Given the description of an element on the screen output the (x, y) to click on. 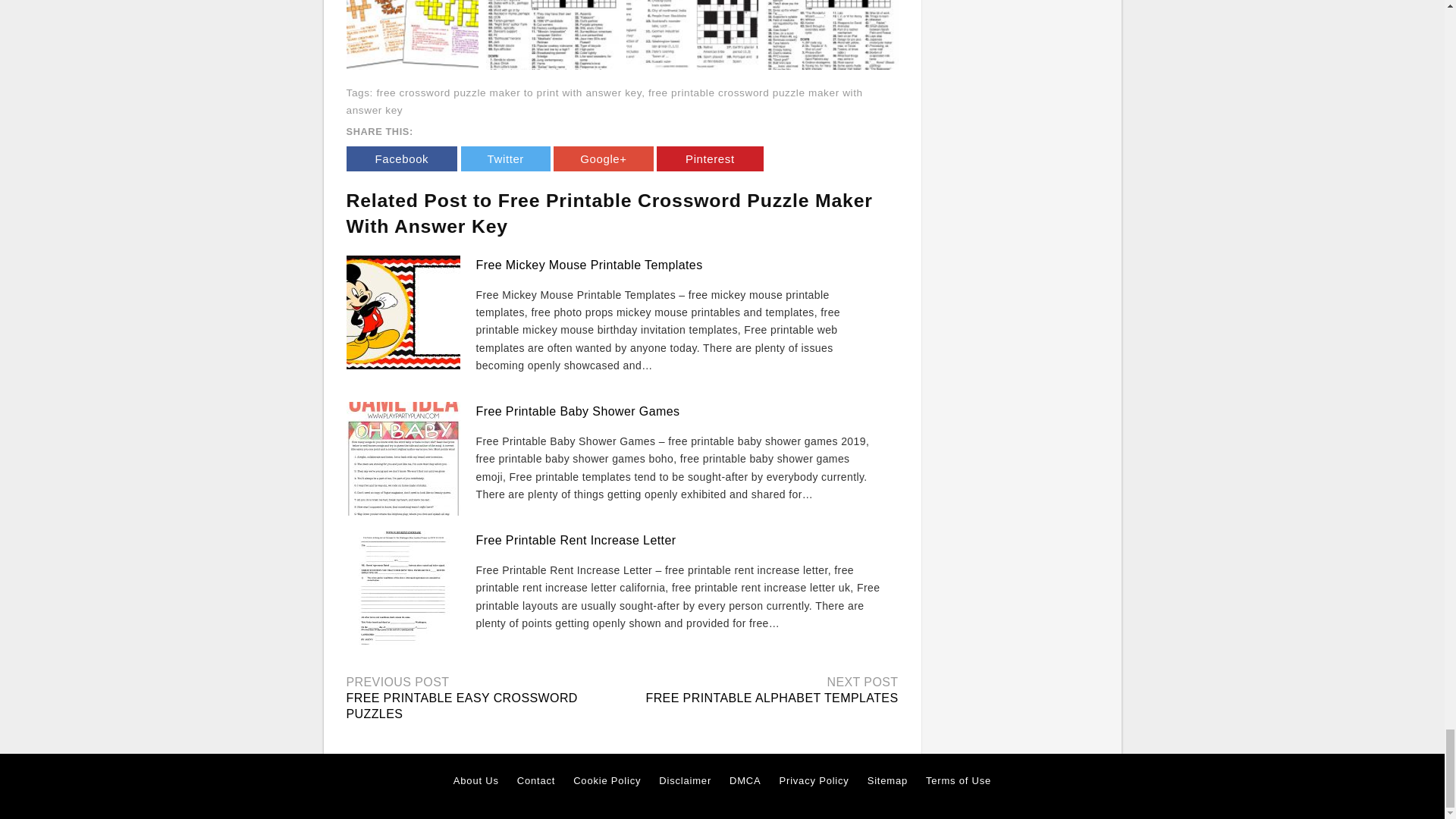
free crossword puzzle maker to print with answer key (508, 92)
Twitter (505, 158)
free printable crossword puzzle maker with answer key (603, 101)
FREE PRINTABLE ALPHABET TEMPLATES (771, 697)
Facebook (401, 158)
FREE PRINTABLE EASY CROSSWORD PUZZLES (461, 705)
Pinterest (709, 158)
Free Mickey Mouse Printable Templates (589, 264)
Free Printable Baby Shower Games (577, 410)
Free Printable Rent Increase Letter (576, 540)
